Given the description of an element on the screen output the (x, y) to click on. 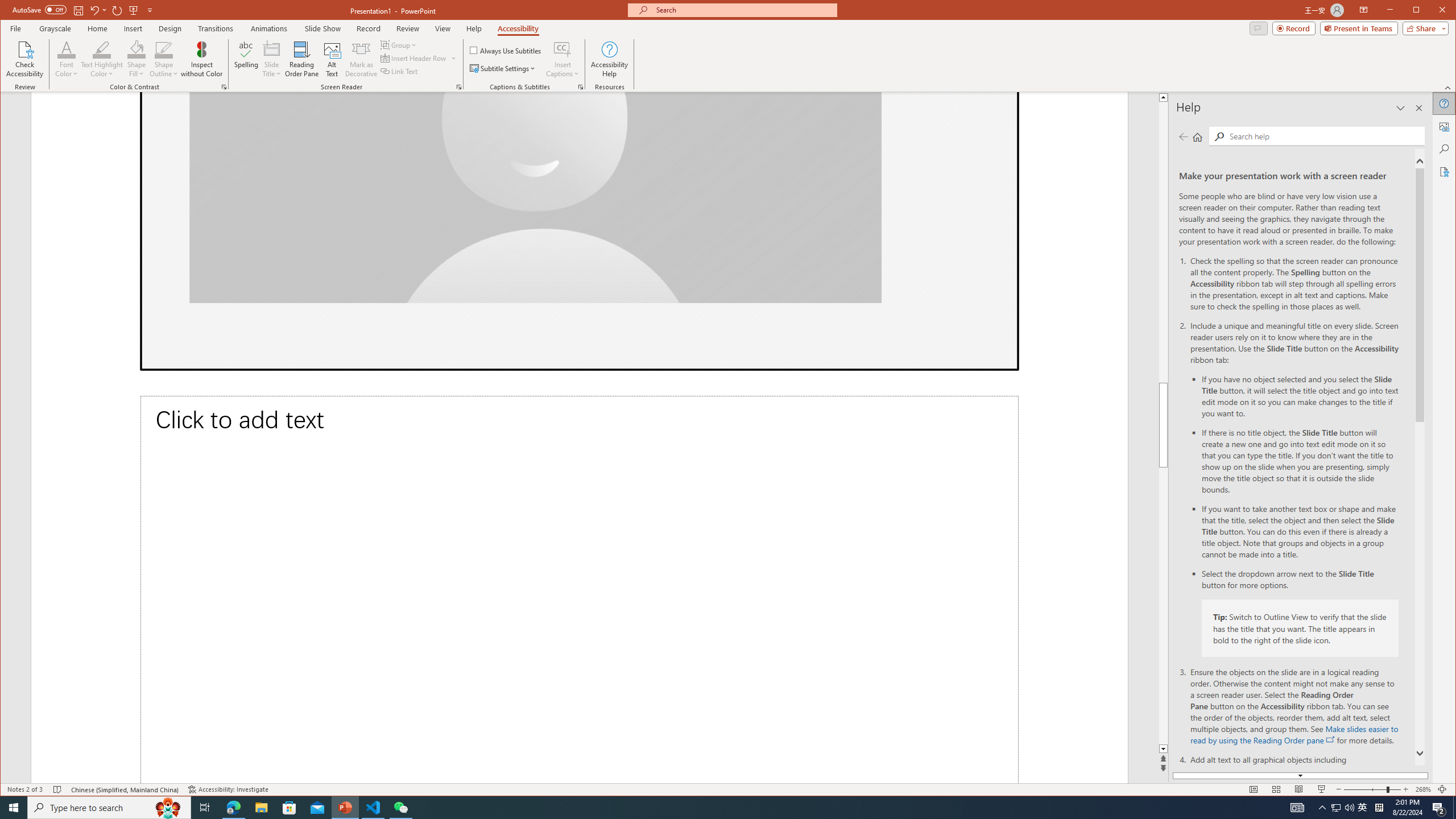
openinnewwindow (1330, 739)
